Given the description of an element on the screen output the (x, y) to click on. 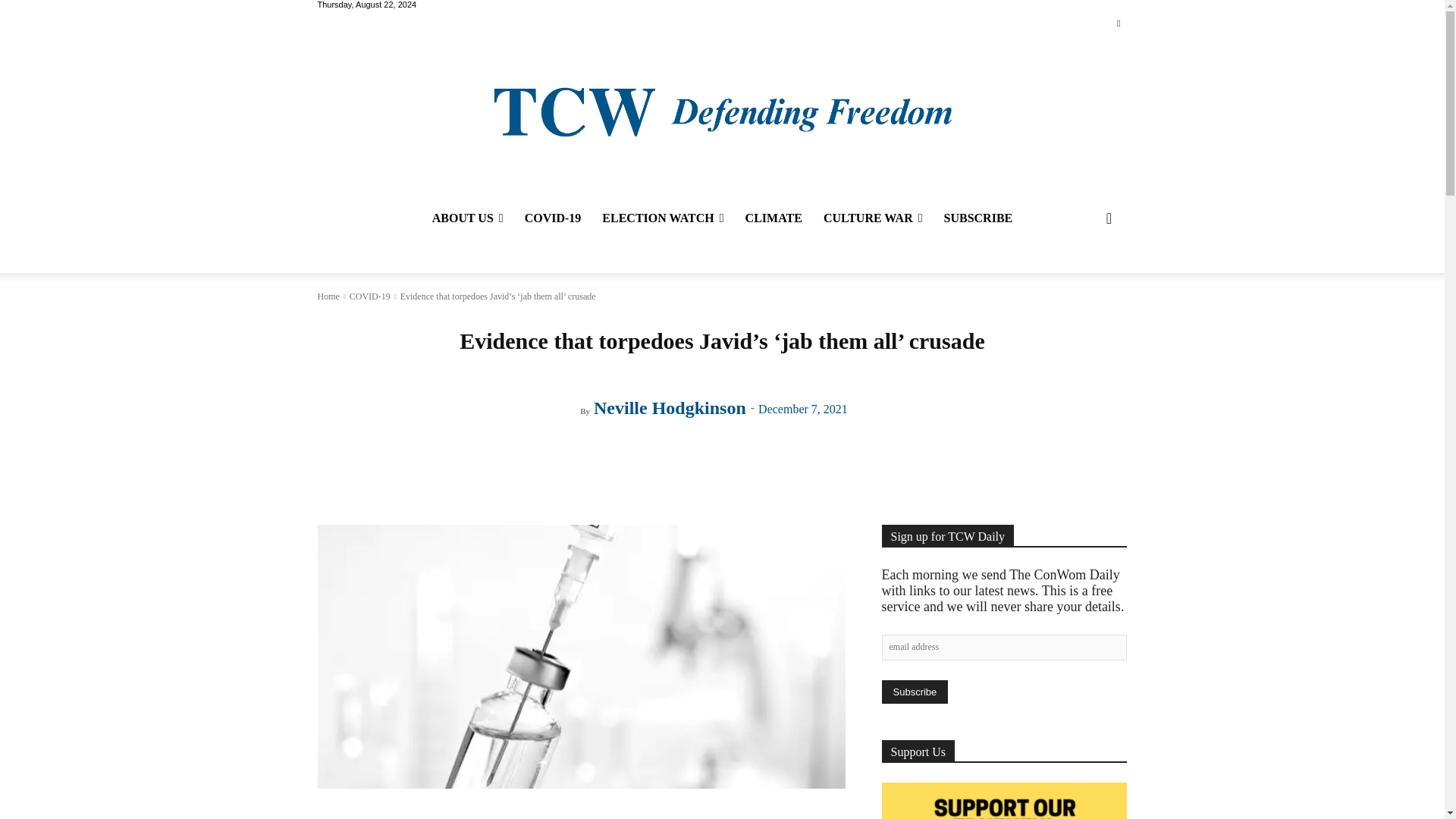
Subscribe (913, 691)
COVID-19 (552, 217)
ABOUT US (467, 217)
ELECTION WATCH (662, 217)
Twitter (1117, 23)
CULTURE WAR (872, 217)
CLIMATE (773, 217)
View all posts in COVID-19 (369, 296)
The Conservative Woman (721, 110)
